Given the description of an element on the screen output the (x, y) to click on. 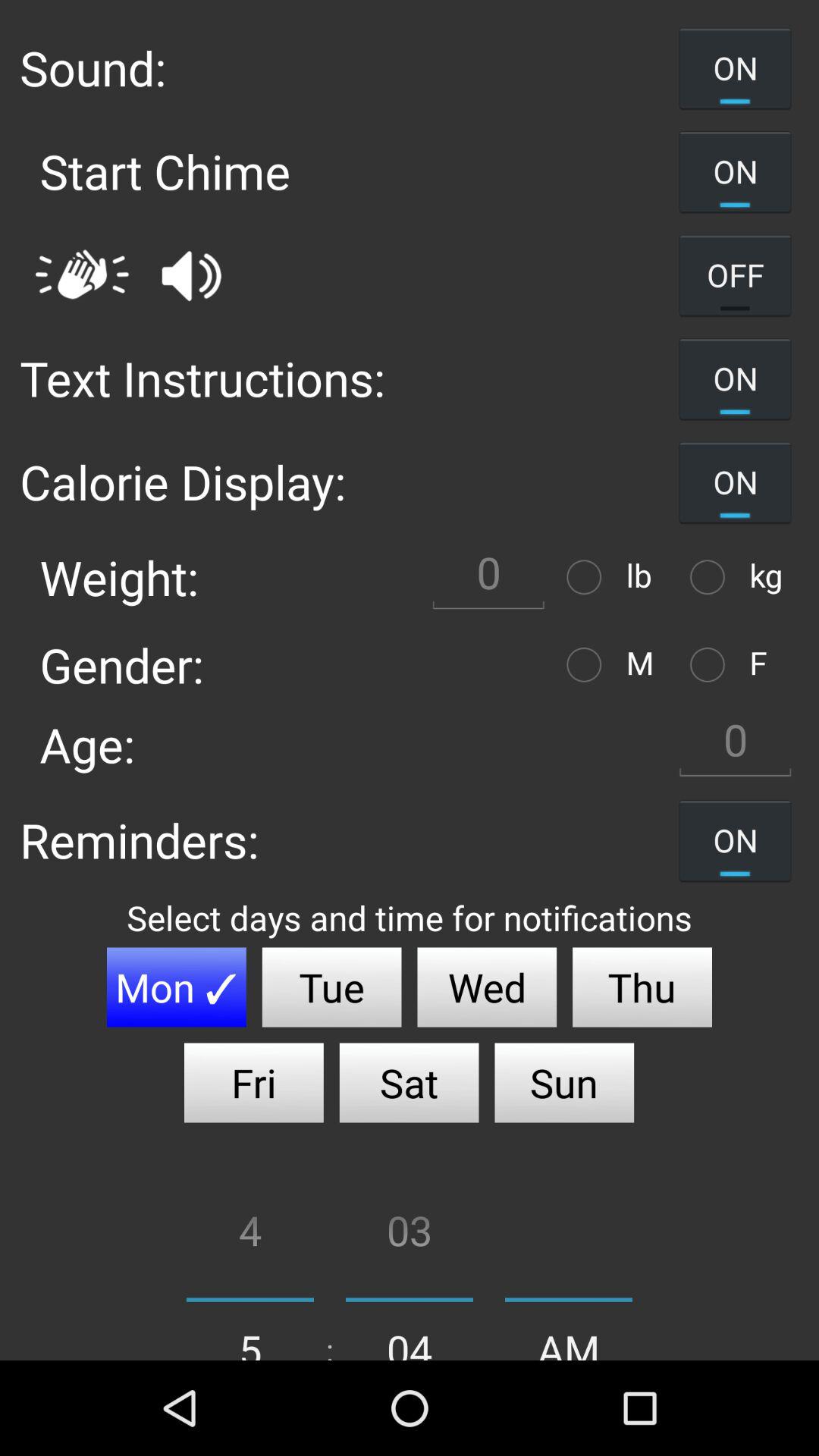
select kg as weight standard (711, 577)
